Given the description of an element on the screen output the (x, y) to click on. 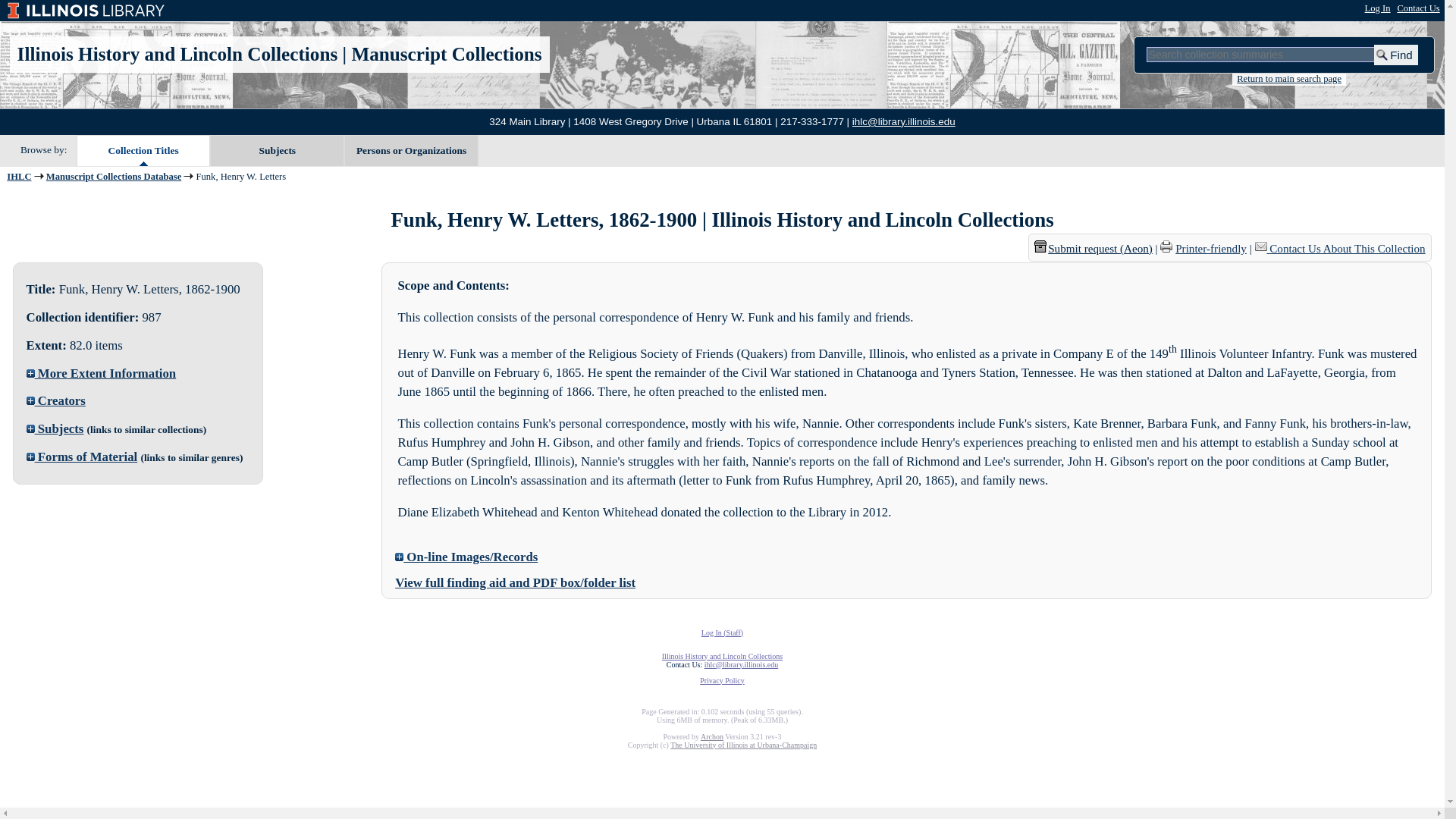
Subjects (55, 428)
Find (1396, 55)
Manuscript Collections (445, 54)
More Extent Information (101, 373)
Contact Us About This Collection (1347, 248)
Creators (55, 400)
Search (1396, 55)
Subjects (276, 150)
Printer-friendly (1210, 248)
Return to main search page (1288, 79)
